Given the description of an element on the screen output the (x, y) to click on. 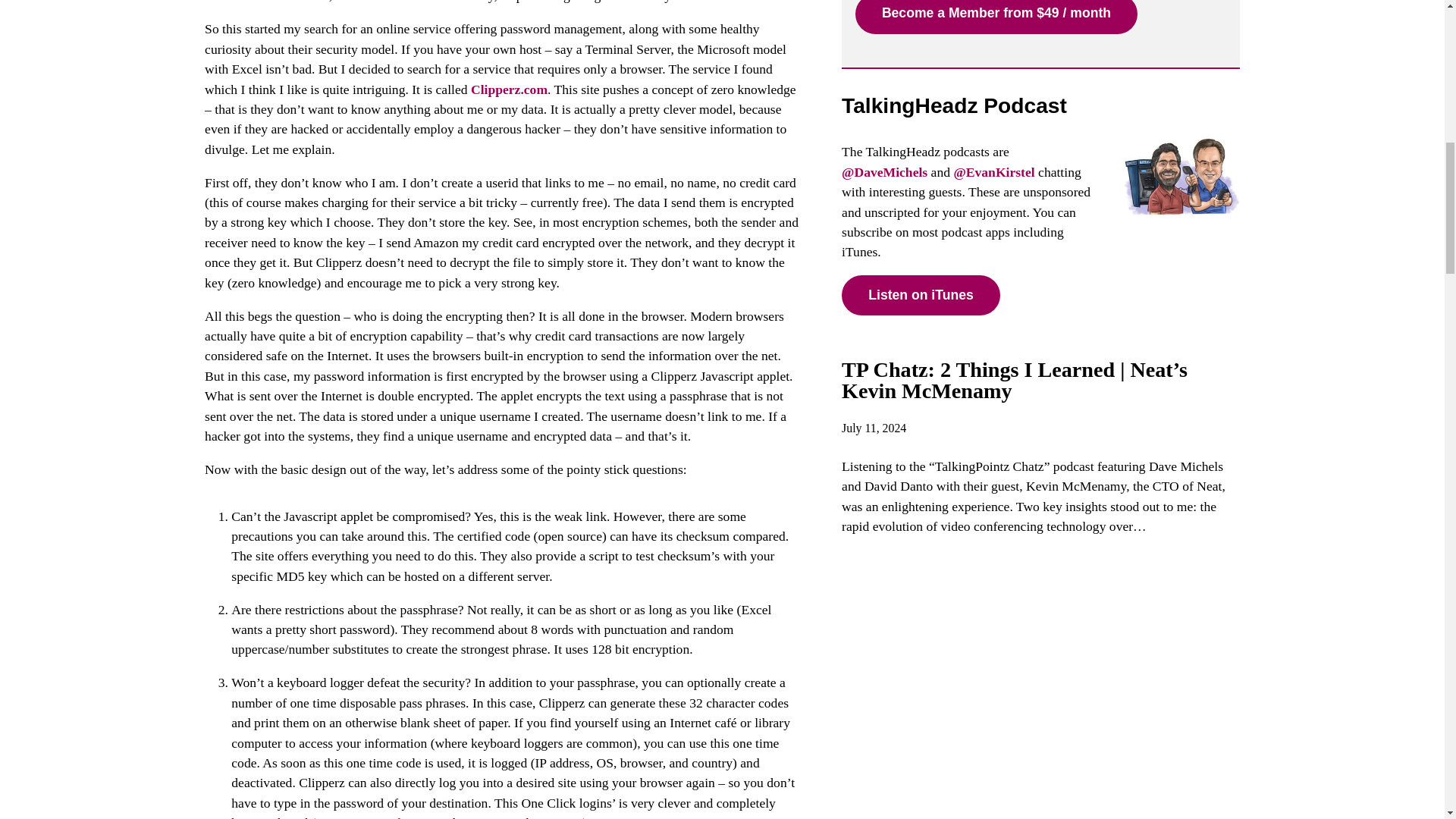
Clipperz.com (508, 89)
